Given the description of an element on the screen output the (x, y) to click on. 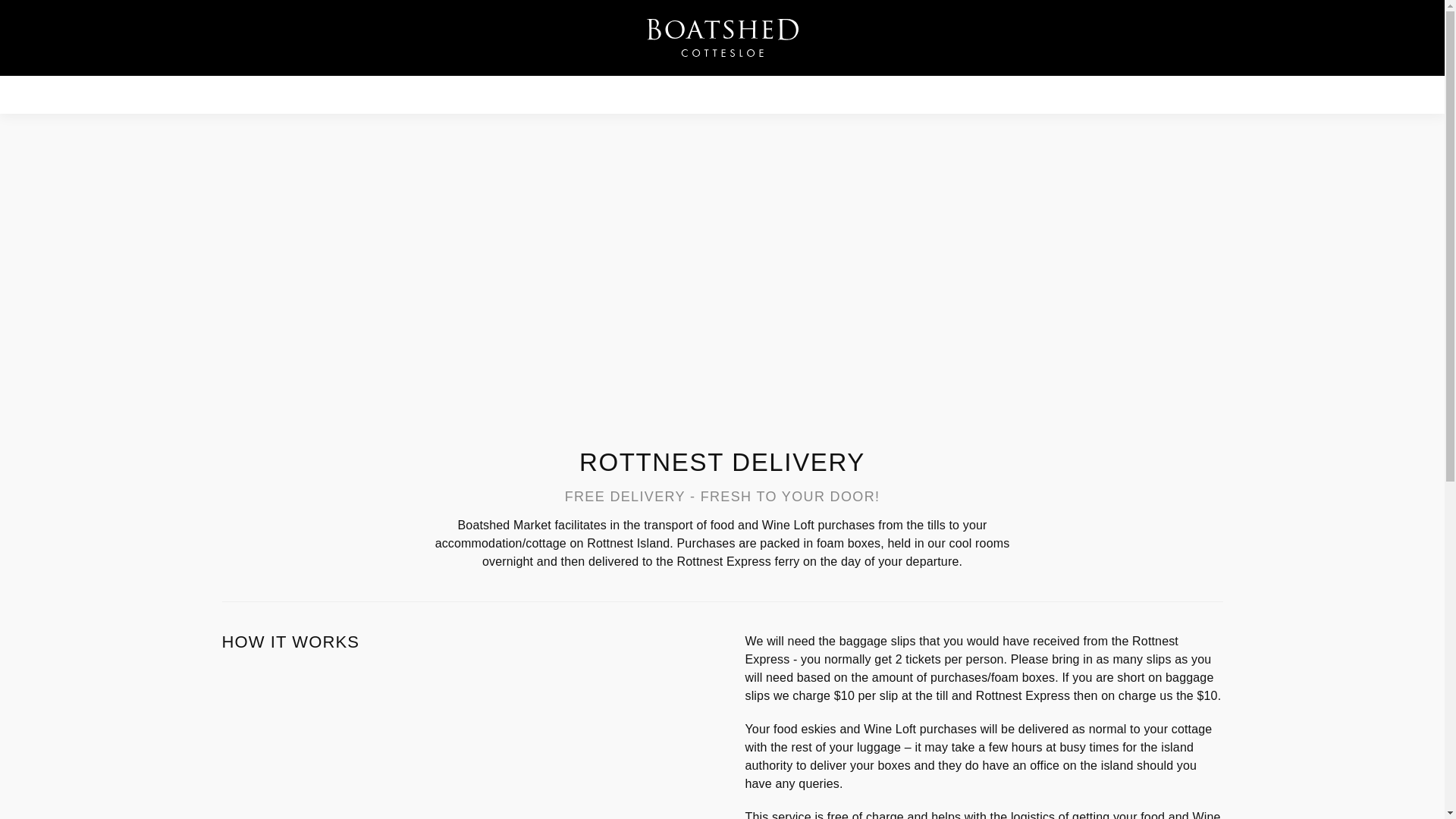
Boatshed Market (721, 38)
